Given the description of an element on the screen output the (x, y) to click on. 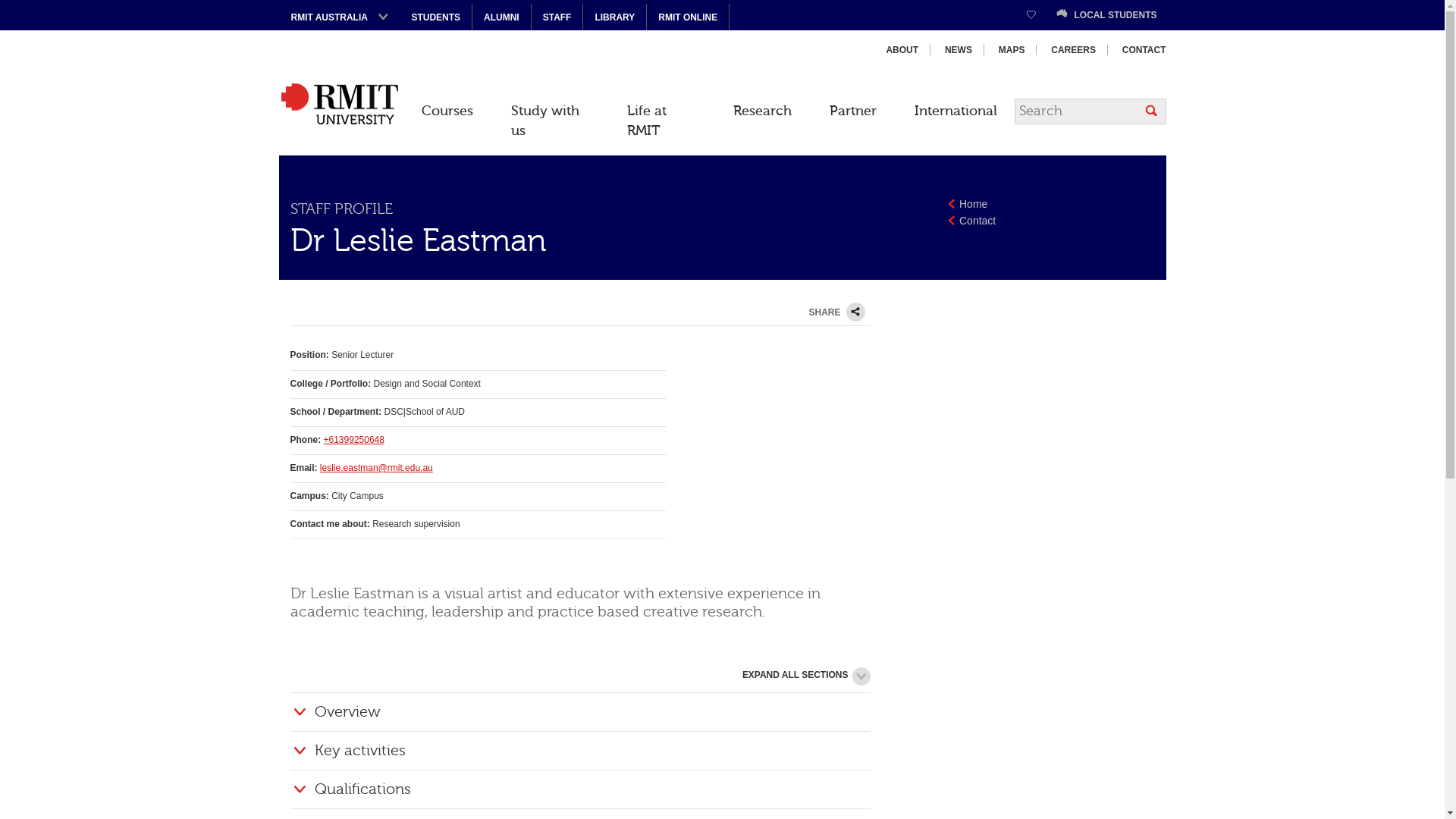
LIBRARY (614, 17)
RMIT AUSTRALIA (339, 17)
Maps (1011, 50)
Contact (1138, 50)
Search (1150, 110)
Careers (1073, 50)
RMIT University (339, 103)
STUDENTS (436, 17)
About (902, 50)
STAFF (557, 17)
